Given the description of an element on the screen output the (x, y) to click on. 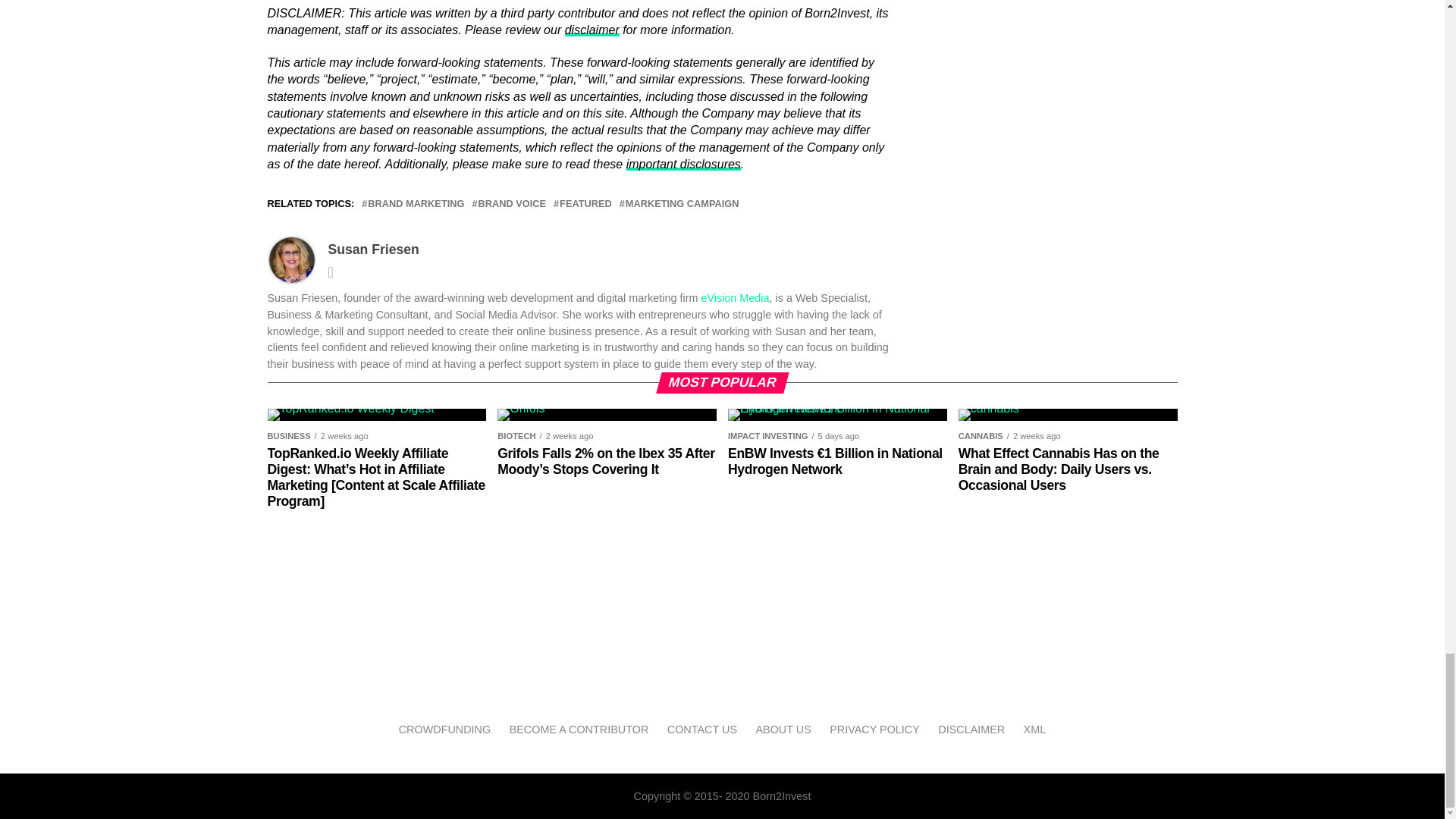
important disclosures (683, 164)
BRAND MARKETING (416, 204)
Posts by Susan Friesen (373, 249)
disclaimer (592, 29)
